Given the description of an element on the screen output the (x, y) to click on. 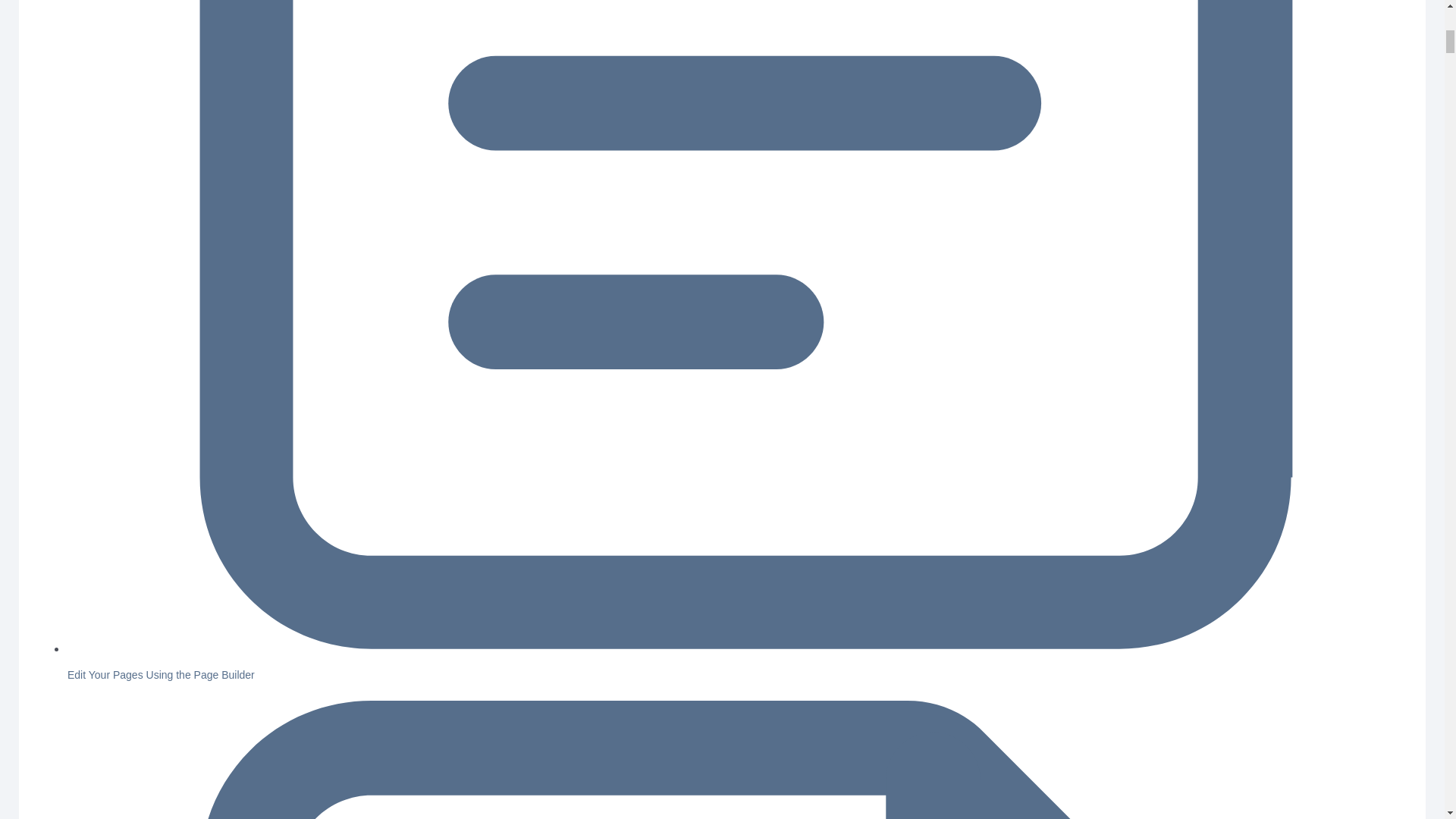
Edit Your Pages Using the Page Builder (160, 674)
